Given the description of an element on the screen output the (x, y) to click on. 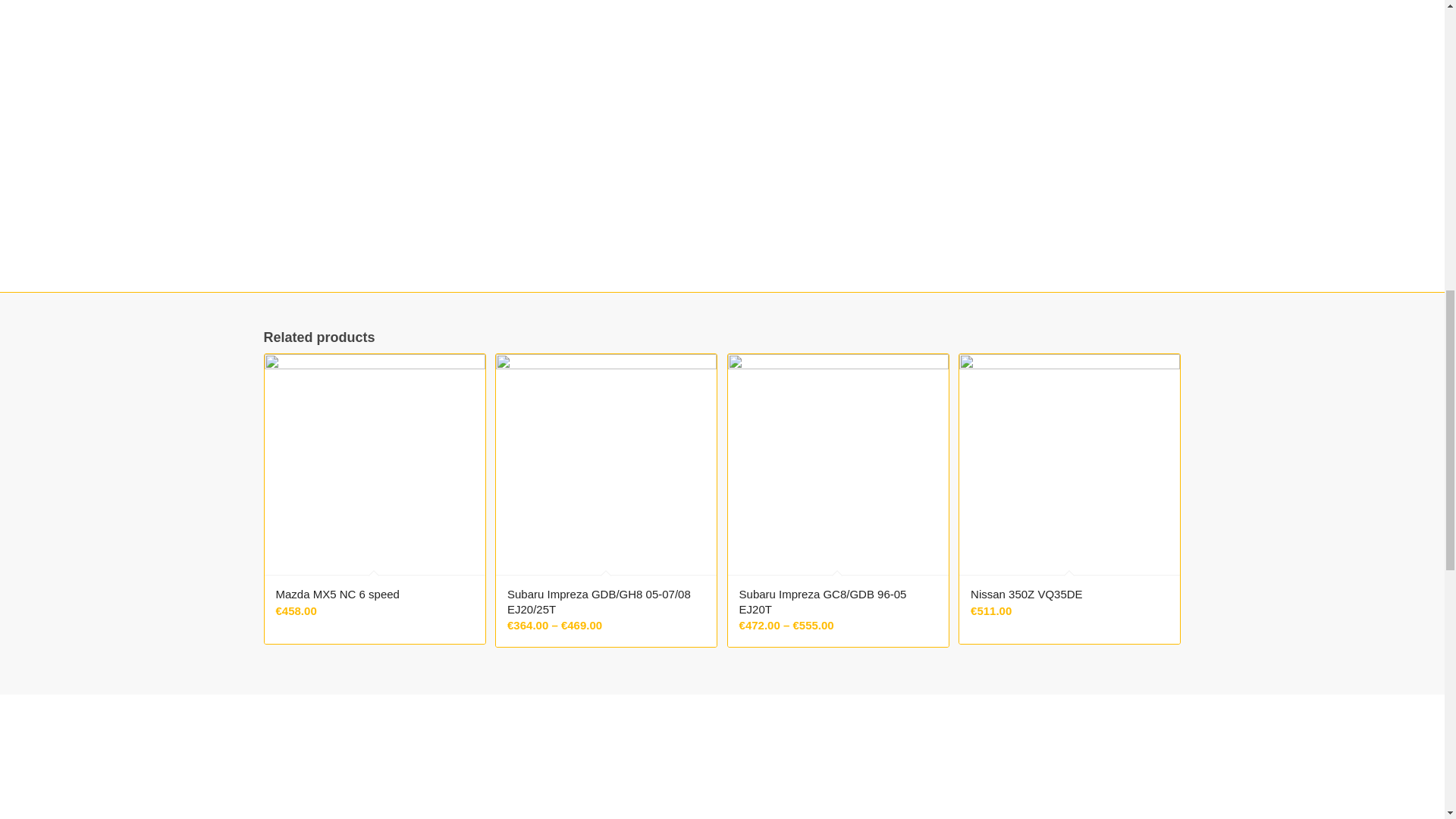
Mazda MX5 NC 6 speed - Drift2Motorsport (373, 463)
